Given the description of an element on the screen output the (x, y) to click on. 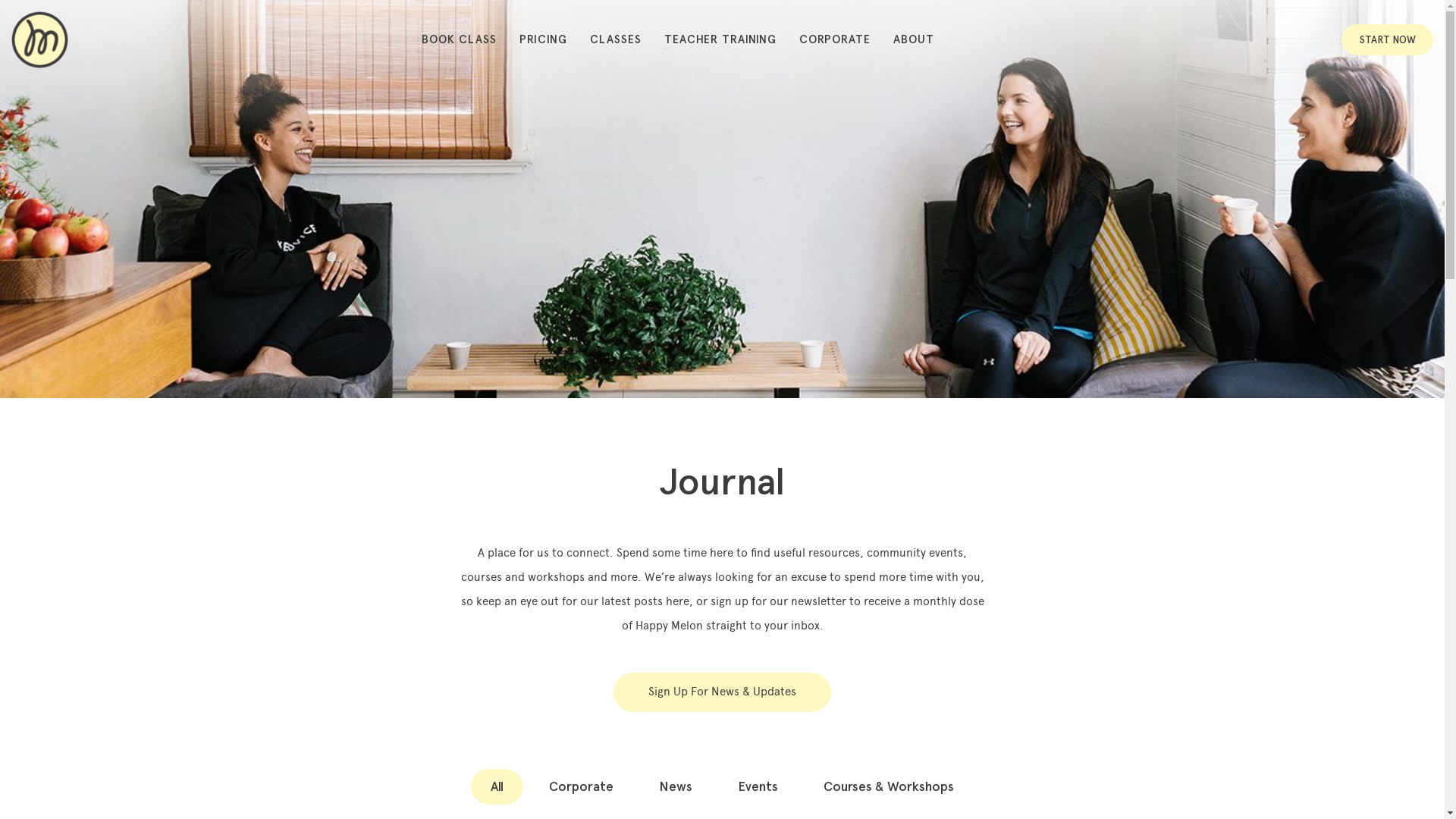
Sign Up For News & Updates Element type: text (722, 692)
START NOW Element type: text (1387, 40)
Happy Melon Studios Element type: hover (39, 39)
